Given the description of an element on the screen output the (x, y) to click on. 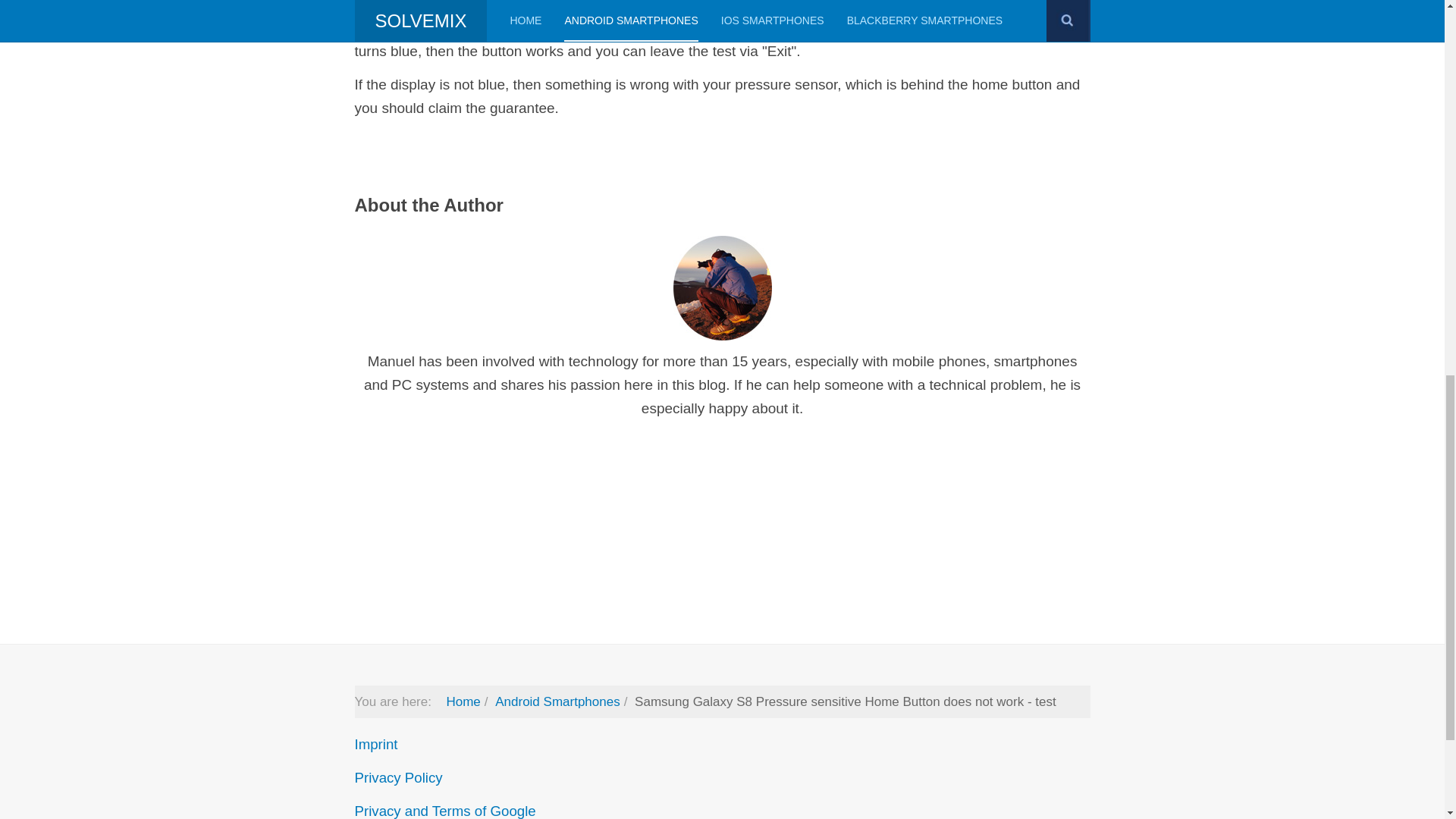
Android Smartphones (557, 701)
Privacy and Terms of Google (445, 811)
Privacy Policy (398, 777)
Imprint (376, 744)
Home (462, 701)
